Given the description of an element on the screen output the (x, y) to click on. 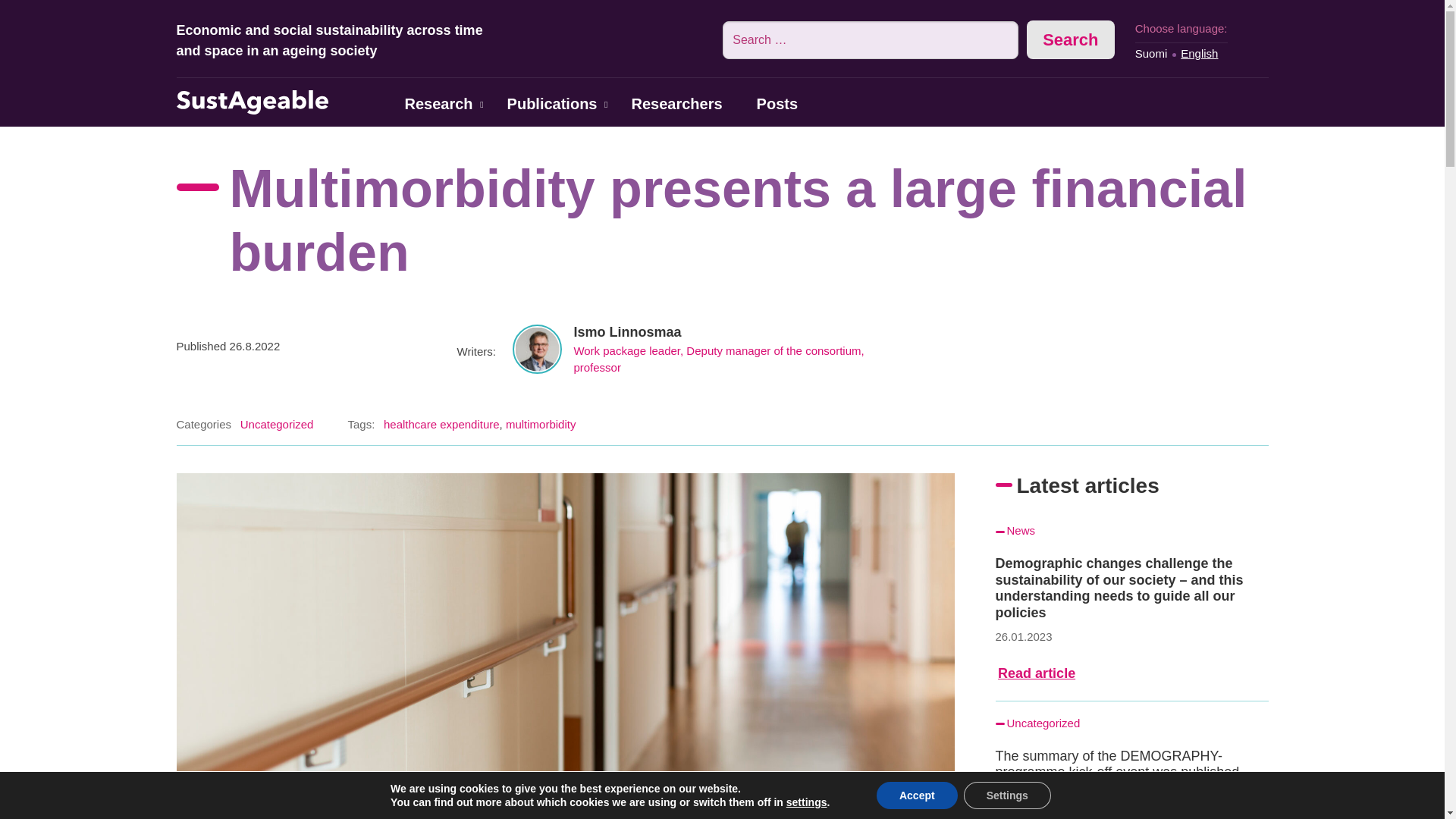
Posts (777, 105)
Suomi (1151, 52)
Researchers (676, 105)
Read article (1035, 673)
English (1198, 52)
Search (1070, 39)
Ismo Linnosmaa (627, 331)
Search (1070, 39)
